Given the description of an element on the screen output the (x, y) to click on. 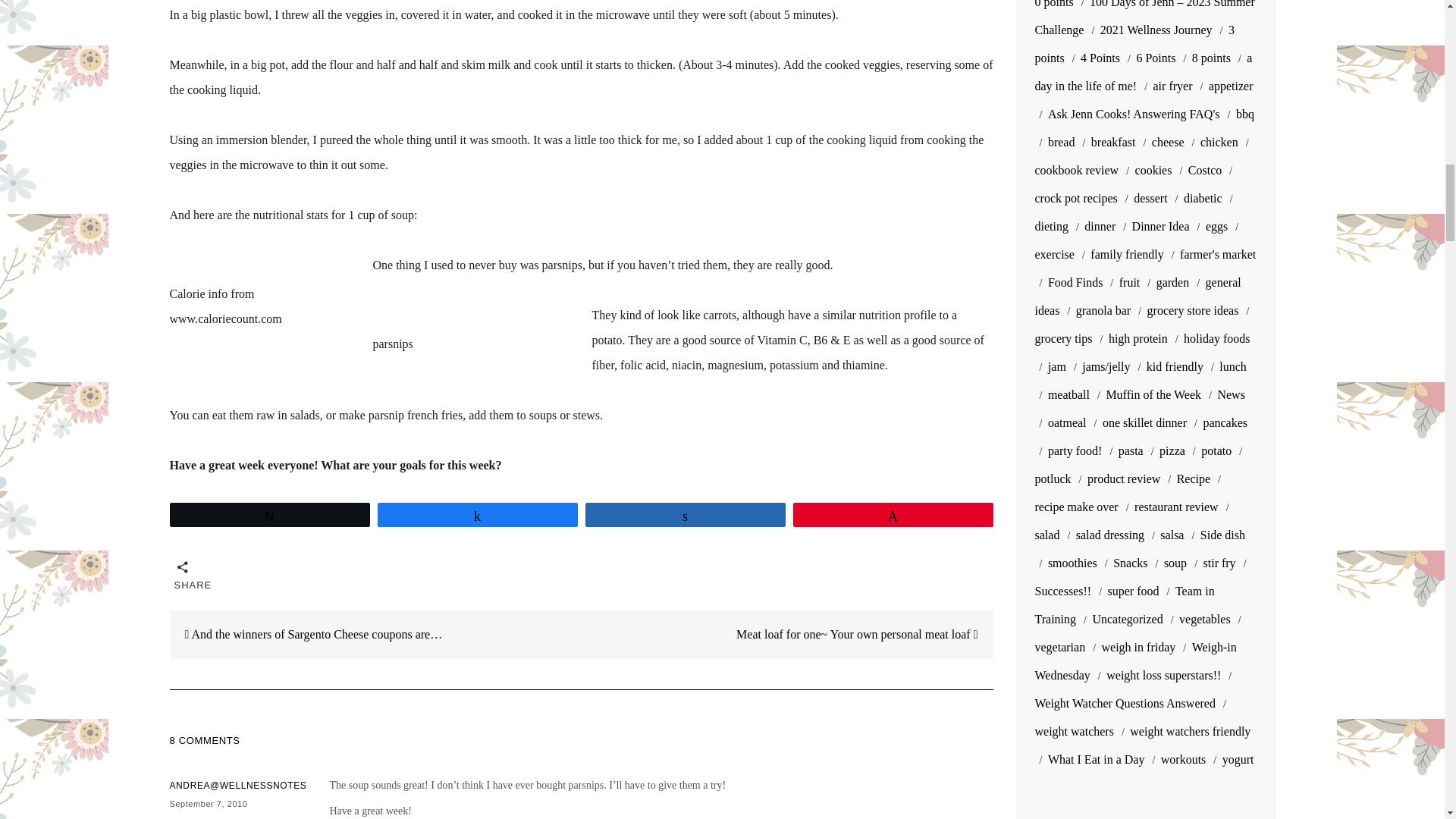
SHARE (183, 572)
September 7, 2010 (208, 803)
